Given the description of an element on the screen output the (x, y) to click on. 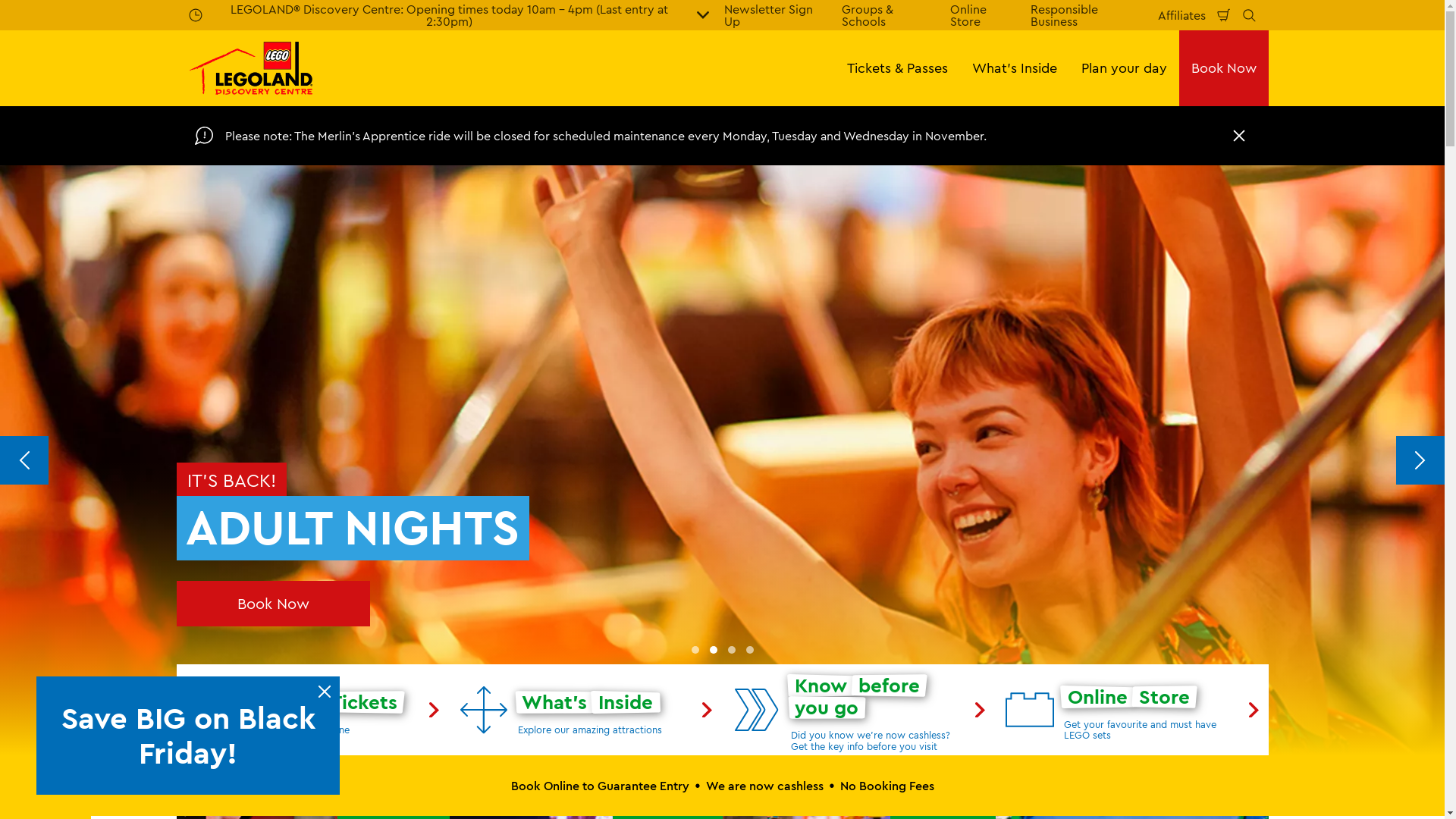
Go to slide 2 Element type: text (712, 649)
Book Now Element type: text (1222, 68)
Save BIG on Black Friday! Element type: text (189, 735)
Close Element type: text (324, 691)
What's Inside Element type: text (1014, 68)
Book Now Element type: text (272, 603)
Affiliates Element type: text (1181, 15)
Go to slide 1 Element type: text (694, 649)
Close Element type: text (1237, 135)
Go to slide 4 Element type: text (749, 649)
Search Element type: text (1248, 14)
Tickets & Passes Element type: text (896, 68)
Online Store
Get your favourite and must have LEGO sets Element type: text (1131, 709)
What's Inside
Explore our amazing attractions Element type: text (585, 709)
Go to slide 3 Element type: text (730, 649)
Shopping Cart Element type: text (1223, 14)
Plan your day Element type: text (1124, 68)
Popular Tickets
Guarantee Entry Online Element type: text (311, 709)
